Given the description of an element on the screen output the (x, y) to click on. 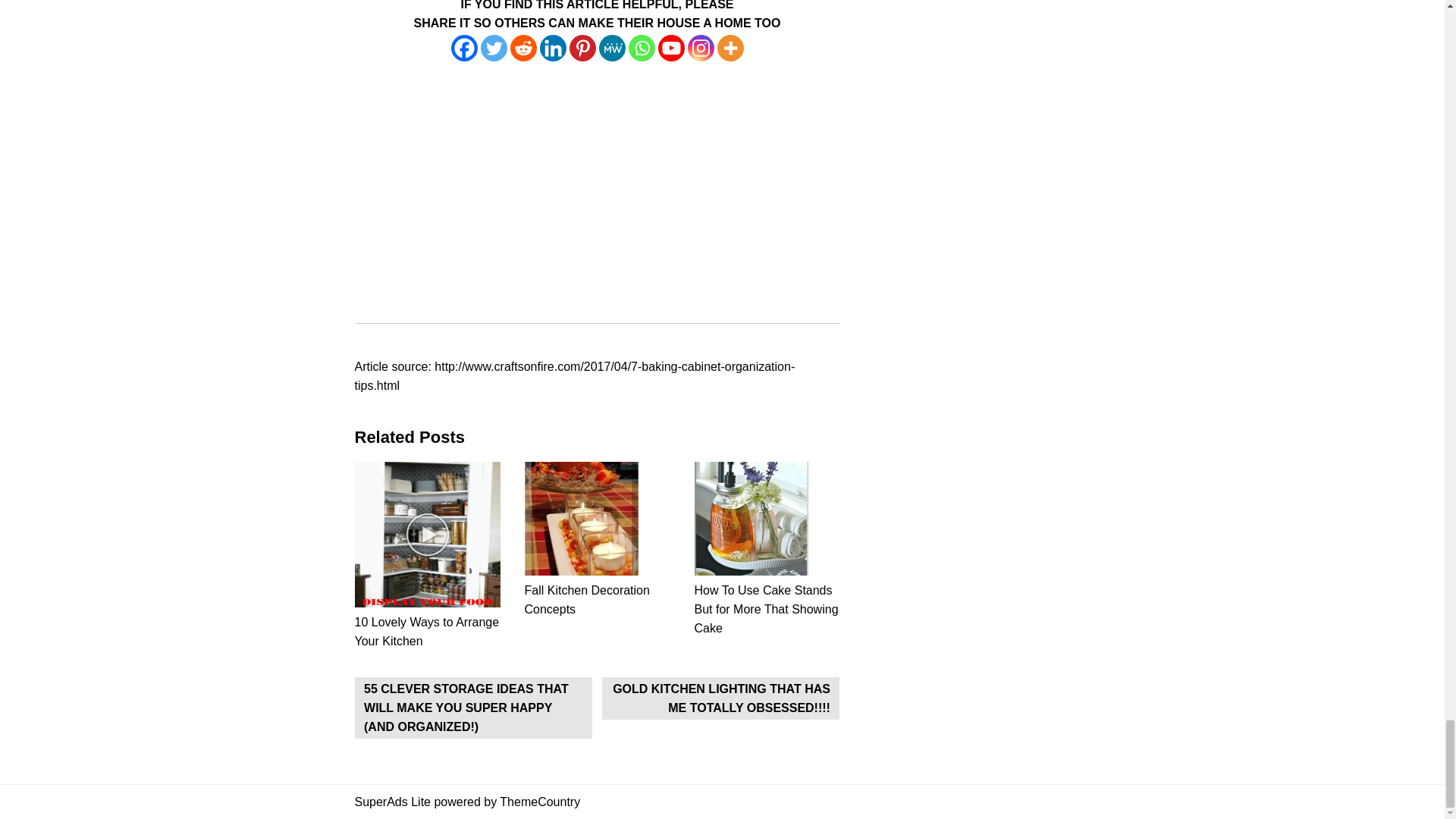
Twitter (493, 48)
Facebook (463, 48)
Reddit (522, 48)
Linkedin (553, 48)
